Given the description of an element on the screen output the (x, y) to click on. 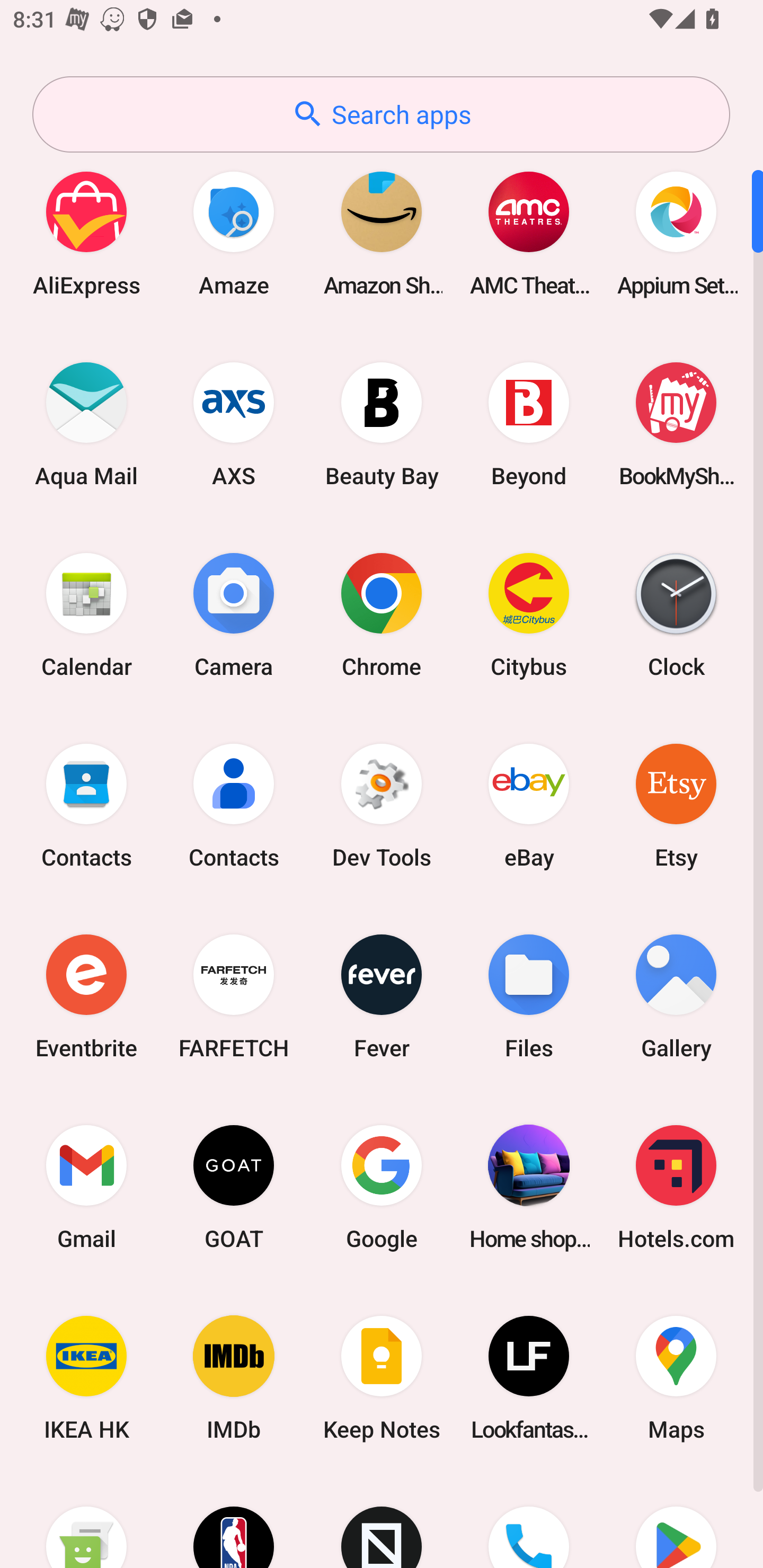
  Search apps (381, 114)
AliExpress (86, 233)
Amaze (233, 233)
Amazon Shopping (381, 233)
AMC Theatres (528, 233)
Appium Settings (676, 233)
Aqua Mail (86, 424)
AXS (233, 424)
Beauty Bay (381, 424)
Beyond (528, 424)
BookMyShow (676, 424)
Calendar (86, 614)
Camera (233, 614)
Chrome (381, 614)
Citybus (528, 614)
Clock (676, 614)
Contacts (86, 805)
Contacts (233, 805)
Dev Tools (381, 805)
eBay (528, 805)
Etsy (676, 805)
Eventbrite (86, 996)
FARFETCH (233, 996)
Fever (381, 996)
Files (528, 996)
Gallery (676, 996)
Gmail (86, 1186)
GOAT (233, 1186)
Google (381, 1186)
Home shopping (528, 1186)
Hotels.com (676, 1186)
IKEA HK (86, 1377)
IMDb (233, 1377)
Keep Notes (381, 1377)
Lookfantastic (528, 1377)
Maps (676, 1377)
Messaging (86, 1520)
NBA (233, 1520)
Novelship (381, 1520)
Phone (528, 1520)
Play Store (676, 1520)
